Given the description of an element on the screen output the (x, y) to click on. 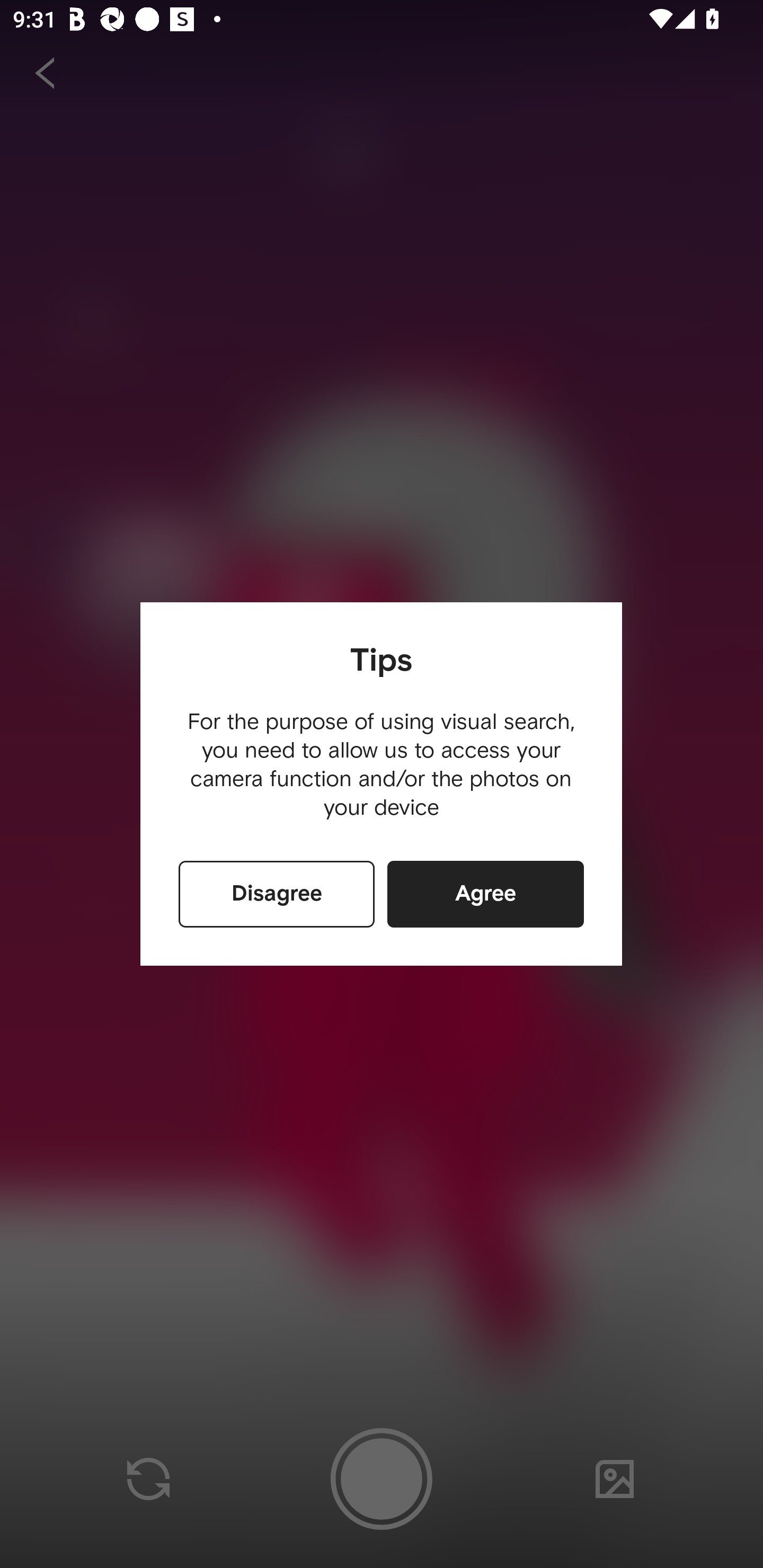
Disagree (276, 894)
Agree (485, 894)
